Given the description of an element on the screen output the (x, y) to click on. 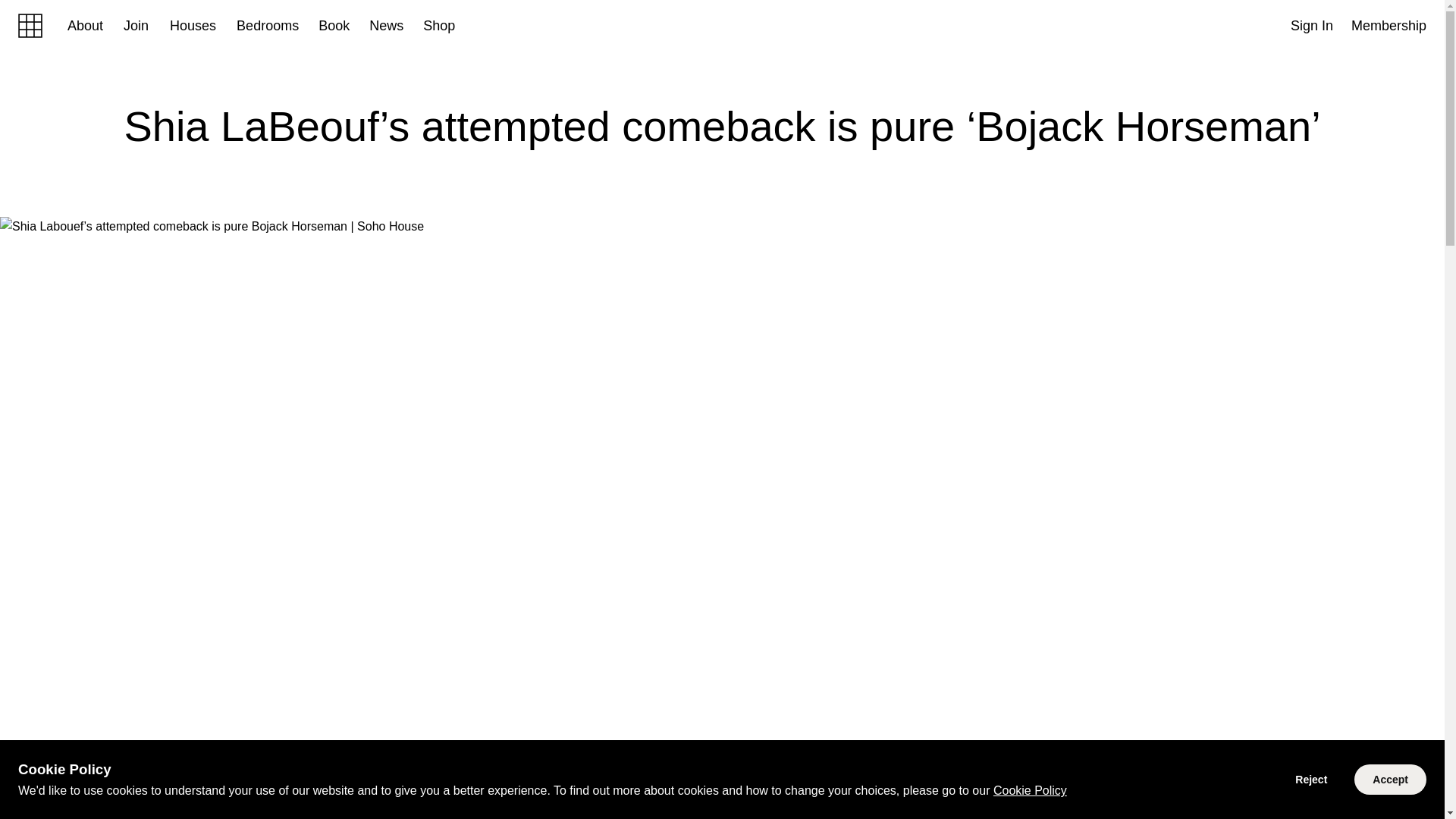
News (377, 25)
News (386, 25)
Membership (1388, 25)
Bedrooms (257, 25)
Bedrooms (267, 25)
Join (135, 25)
Sign In (1311, 25)
Houses (192, 25)
